Given the description of an element on the screen output the (x, y) to click on. 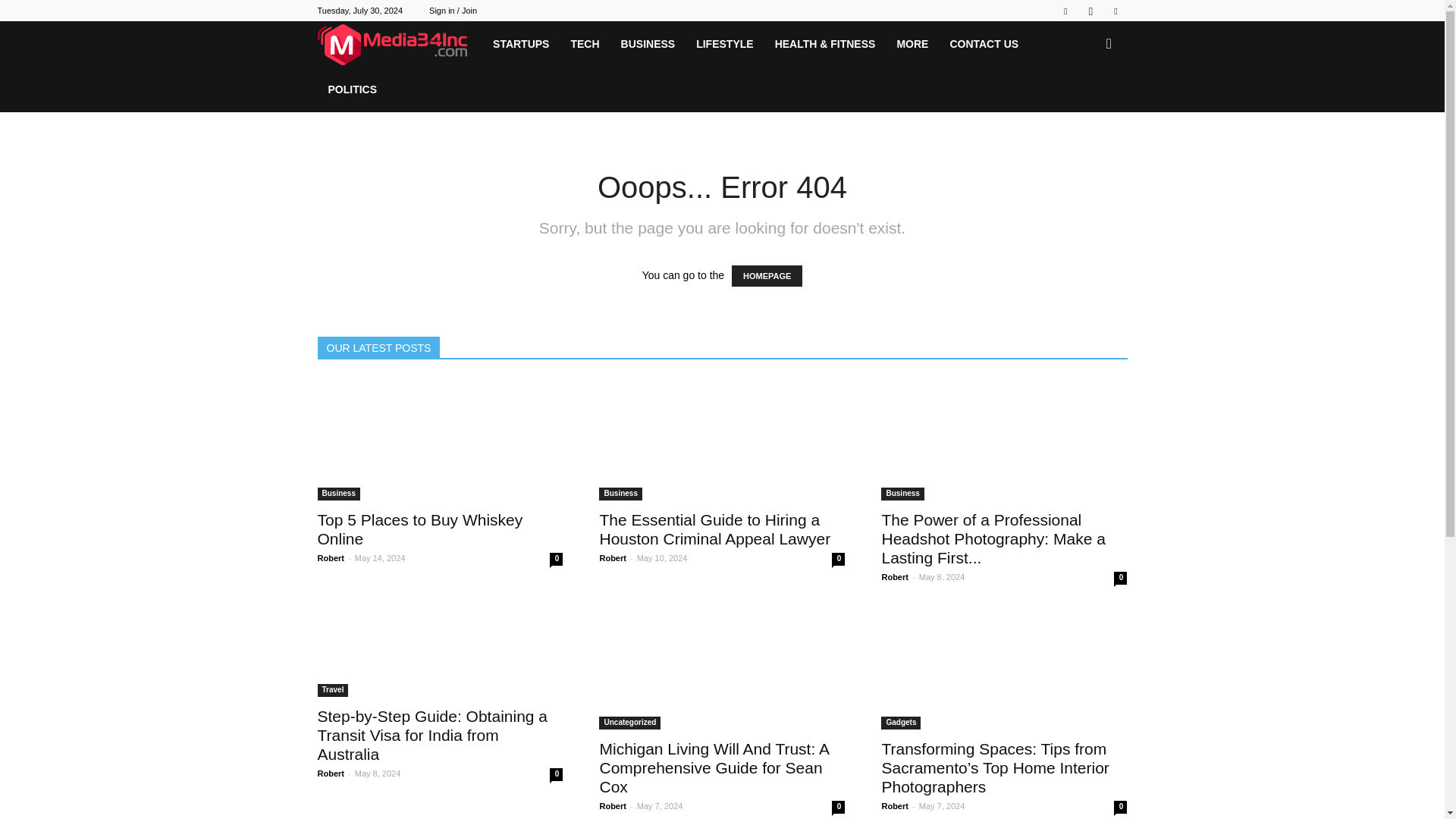
Top 5 Places to Buy Whiskey Online (439, 439)
Facebook (1065, 10)
Twitter (1114, 10)
Media34Inc (399, 44)
Instagram (1090, 10)
Top 5 Places to Buy Whiskey Online (419, 529)
STARTUPS (520, 43)
